Given the description of an element on the screen output the (x, y) to click on. 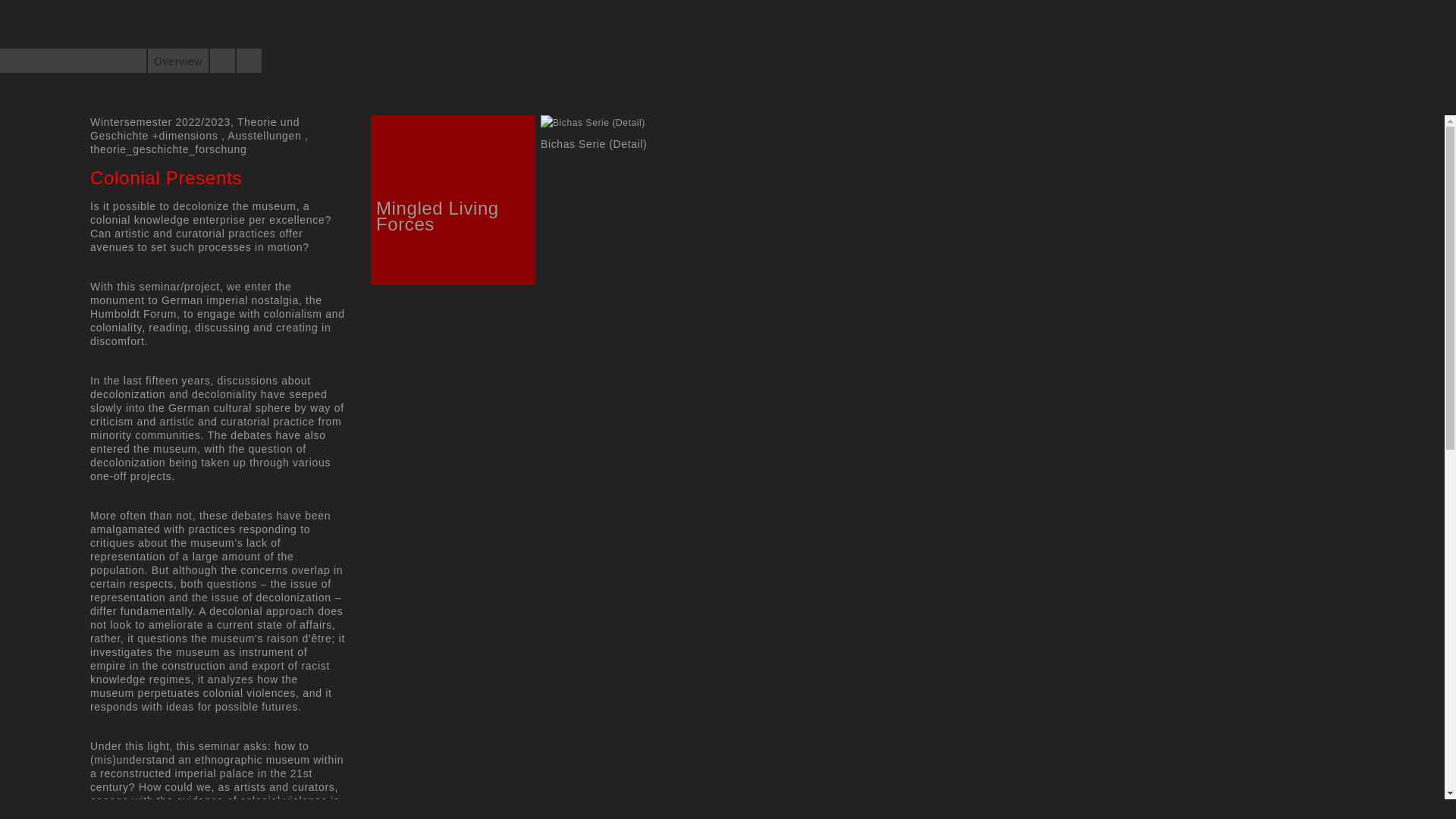
Mingled Living Forces (437, 216)
Home (64, 62)
Mingled Living Forces (437, 216)
